Given the description of an element on the screen output the (x, y) to click on. 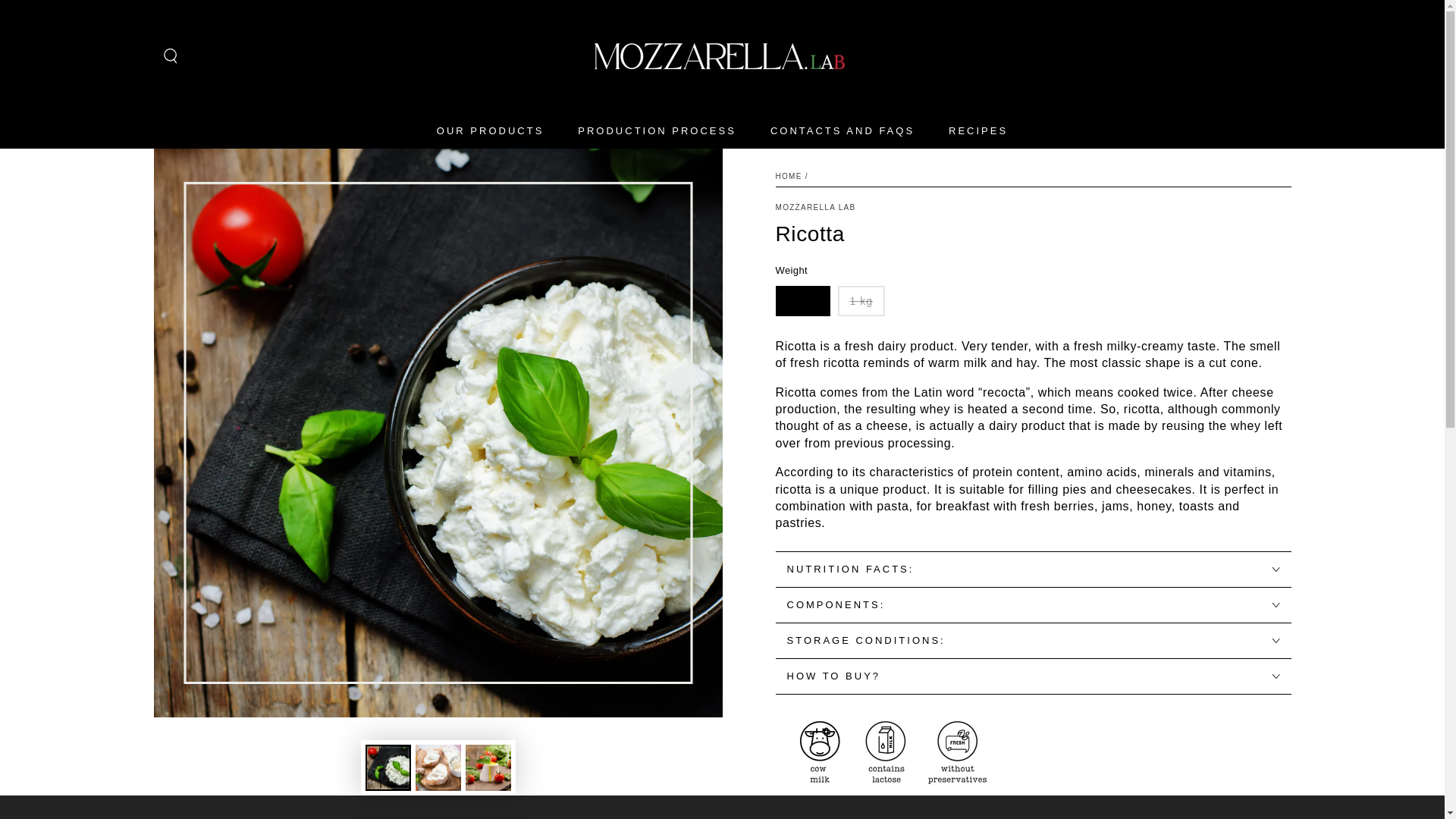
SKIP TO PRODUCT INFORMATION (243, 166)
Mozzarella lab (815, 207)
PRODUCTION PROCESS (657, 130)
Back to the frontpage (788, 175)
OUR PRODUCTS (489, 130)
SKIP TO CONTENT (67, 14)
CONTACTS AND FAQS (842, 130)
HOME (788, 175)
RECIPES (978, 130)
MOZZARELLA LAB (815, 207)
